Given the description of an element on the screen output the (x, y) to click on. 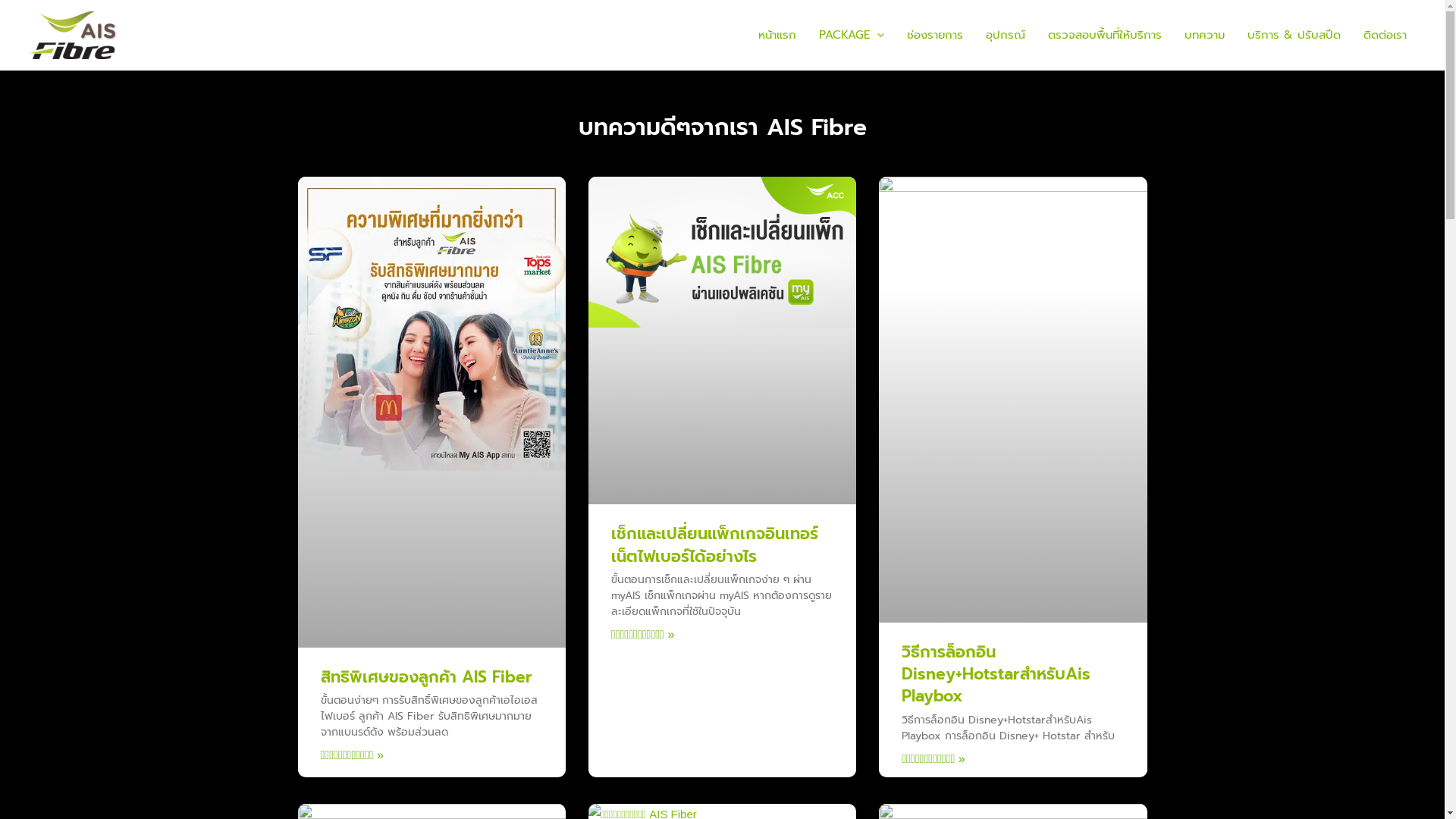
PACKAGE Element type: text (851, 34)
